Given the description of an element on the screen output the (x, y) to click on. 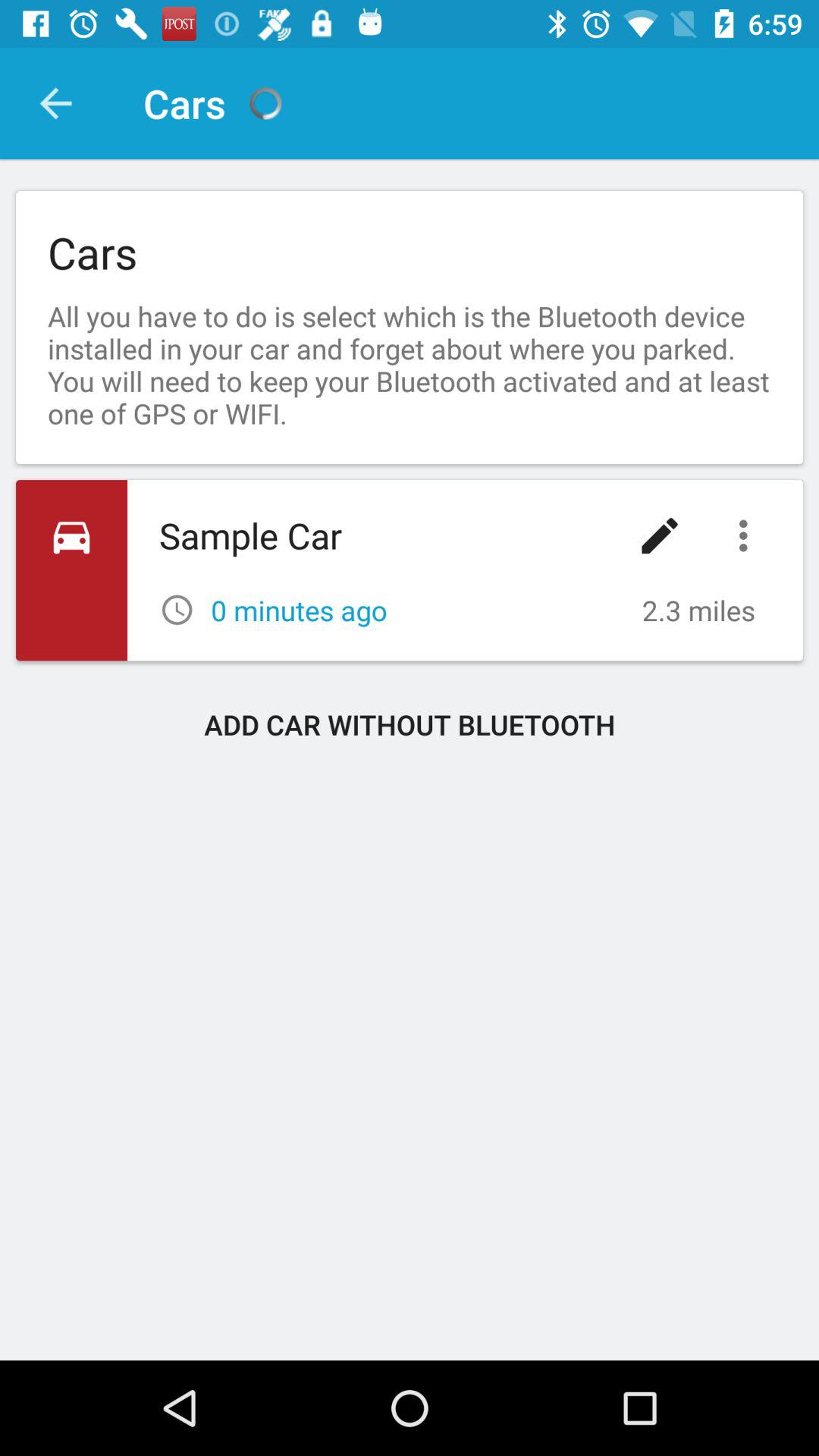
choose item above cars icon (55, 103)
